Given the description of an element on the screen output the (x, y) to click on. 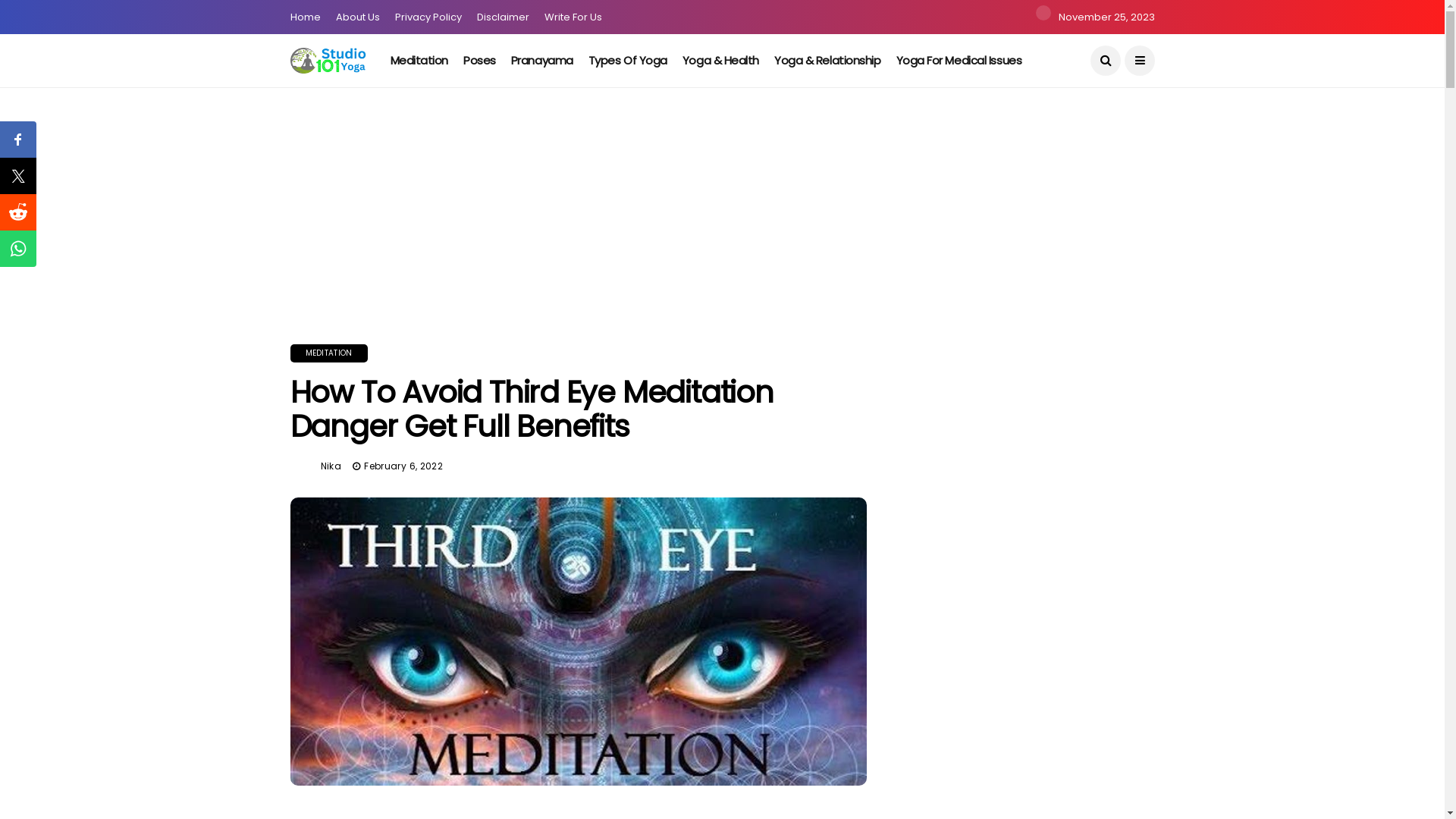
About Us Element type: text (357, 17)
Home Element type: text (304, 17)
Pranayama Element type: text (542, 60)
Meditation Element type: text (419, 60)
Write For Us Element type: text (573, 17)
Yoga For Medical Issues Element type: text (959, 60)
Advertisement Element type: hover (455, 193)
Poses Element type: text (479, 60)
Yoga & Relationship Element type: text (827, 60)
MEDITATION Element type: text (328, 353)
Nika Element type: text (330, 465)
Types Of Yoga Element type: text (627, 60)
Disclaimer Element type: text (502, 17)
Yoga & Health Element type: text (720, 60)
Privacy Policy Element type: text (427, 17)
